Given the description of an element on the screen output the (x, y) to click on. 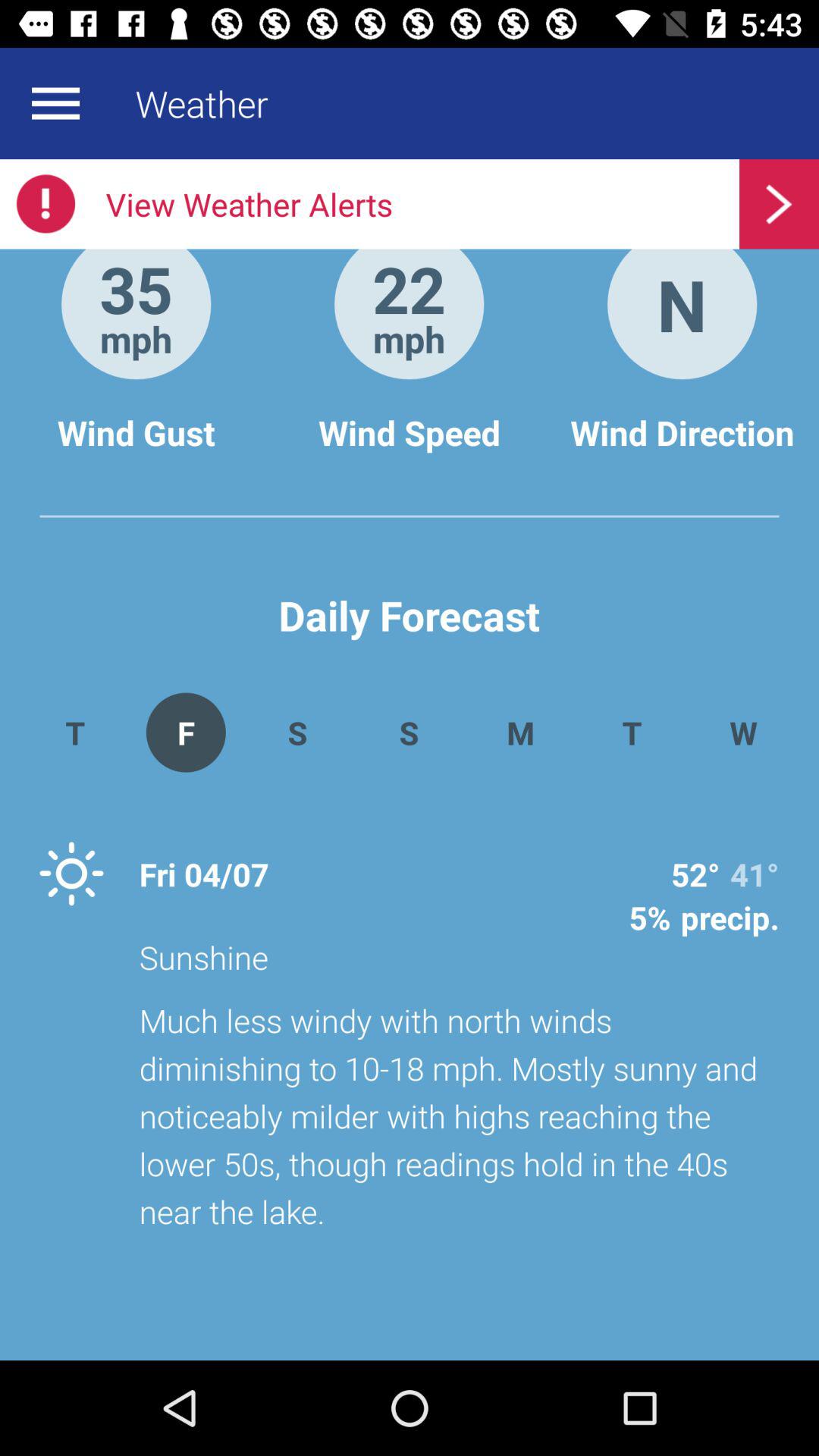
list option (55, 103)
